Given the description of an element on the screen output the (x, y) to click on. 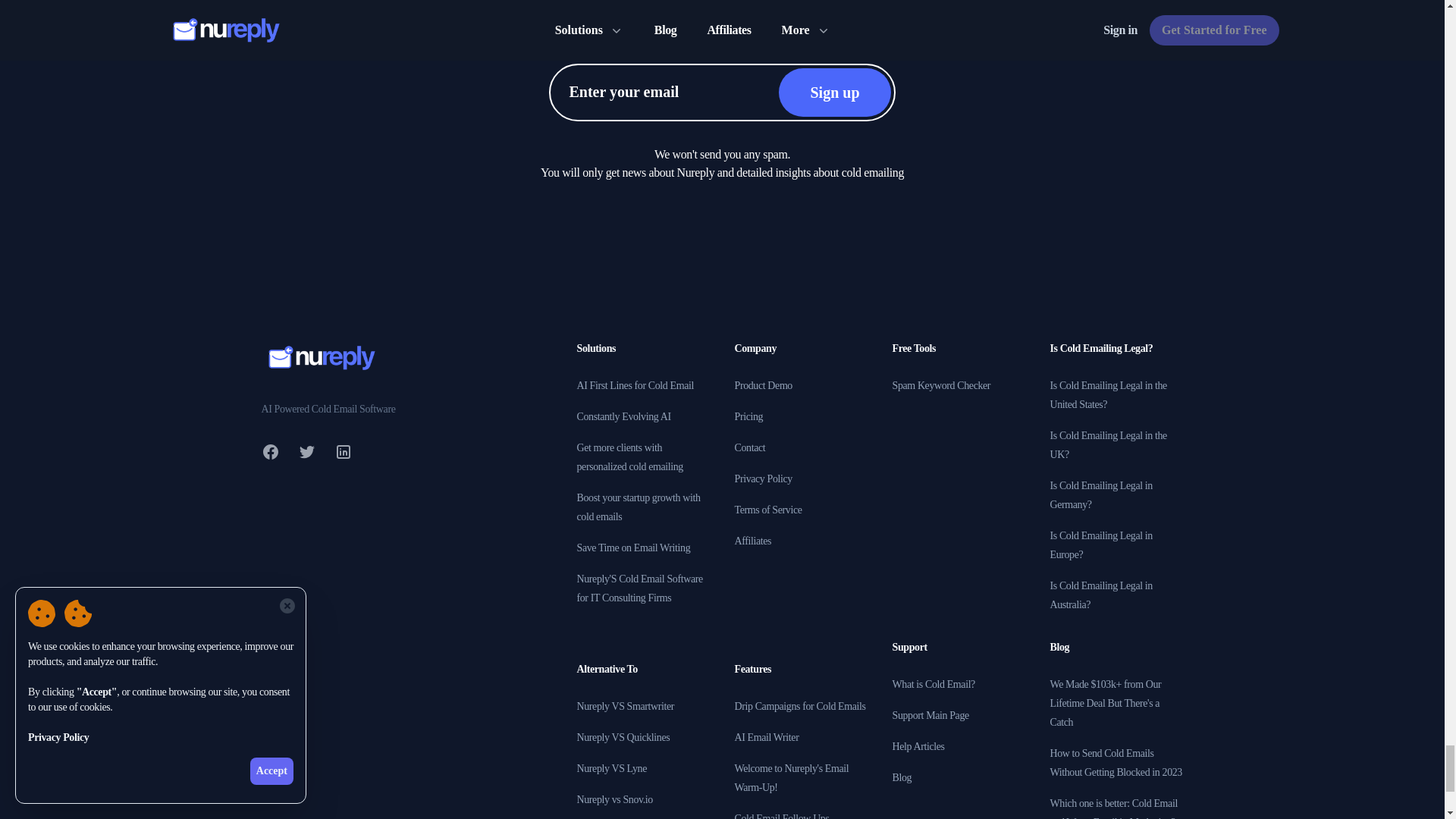
Nureply VS Smartwriter (625, 706)
Solutions (595, 348)
Contact (749, 447)
Constantly Evolving AI (622, 416)
Alternative To (606, 668)
Privacy Policy (762, 478)
Product Demo (762, 385)
Nureply'S Cold Email Software for IT Consulting Firms (638, 588)
Pricing (747, 416)
Boost your startup growth with cold emails (638, 507)
